Given the description of an element on the screen output the (x, y) to click on. 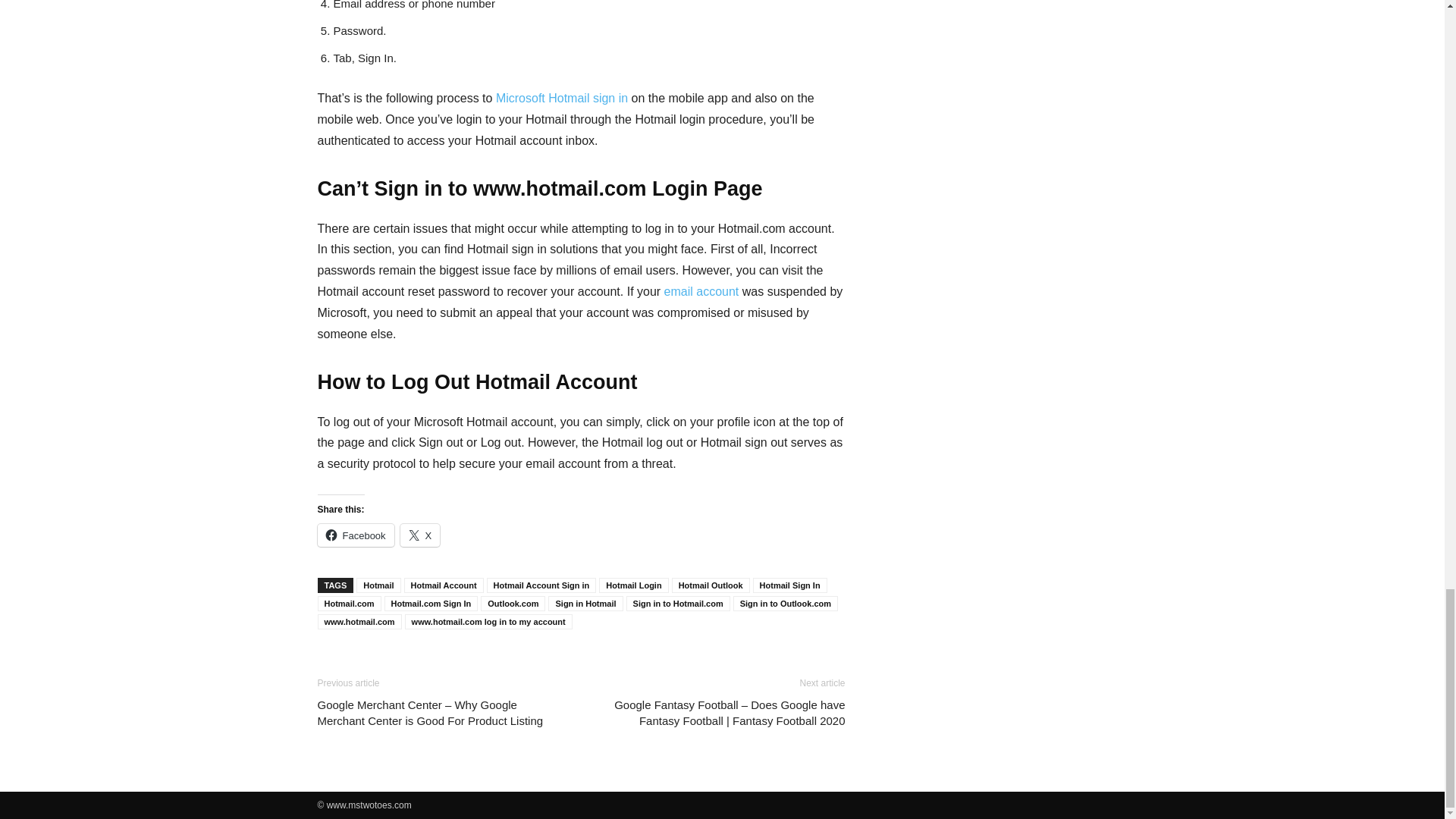
Facebook (355, 535)
email account (701, 291)
Hotmail Account (443, 585)
bottomFacebookLike (430, 662)
Hotmail Outlook (710, 585)
Hotmail.com Sign In (431, 603)
Hotmail Sign In (789, 585)
Click to share on Facebook (355, 535)
Hotmail Login (633, 585)
Hotmail Account Sign in (541, 585)
